Given the description of an element on the screen output the (x, y) to click on. 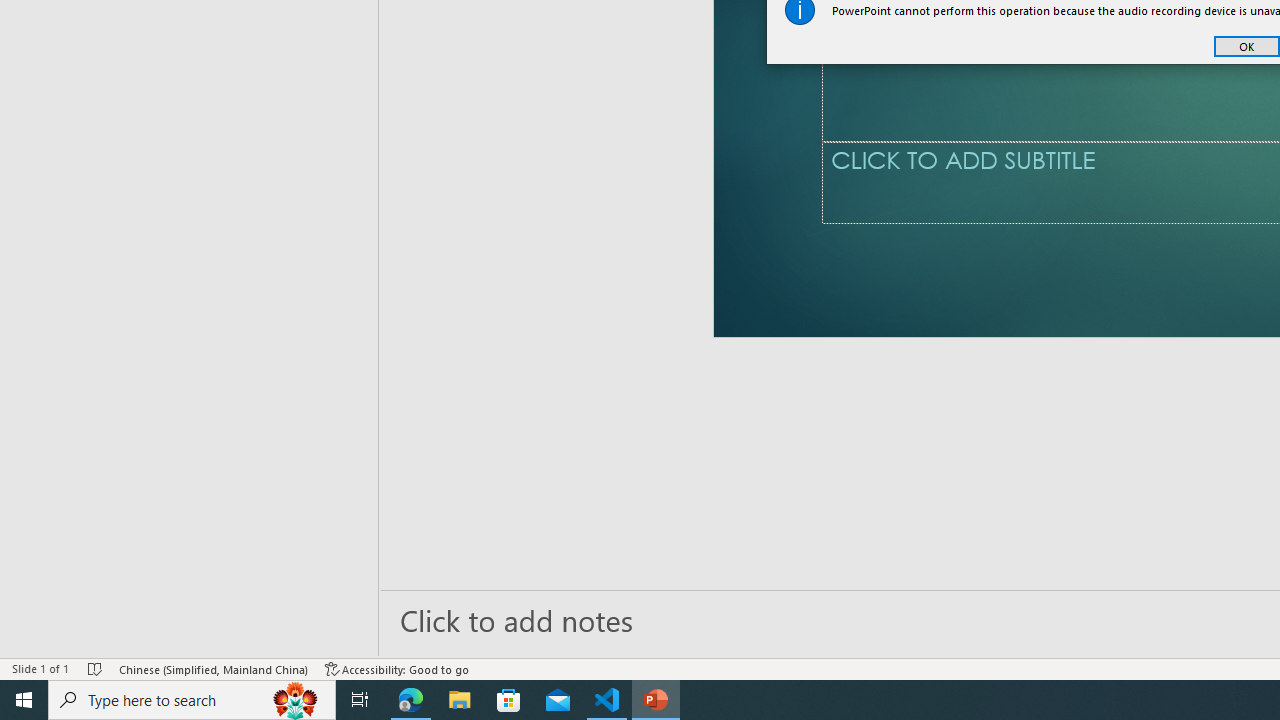
Accessibility Checker Accessibility: Good to go (397, 668)
